Given the description of an element on the screen output the (x, y) to click on. 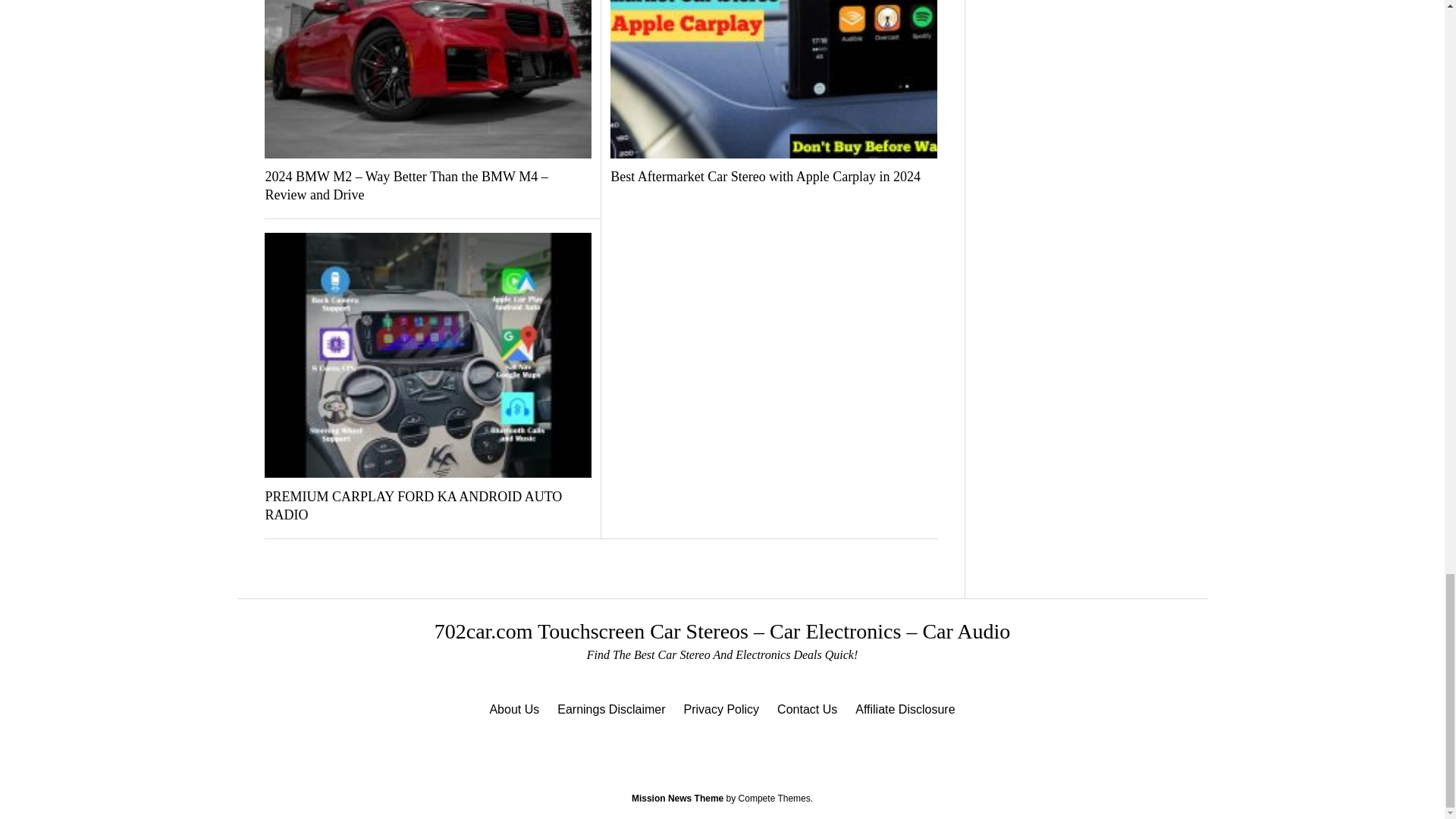
Best Aftermarket Car Stereo with Apple Carplay in 2024 (773, 177)
